Given the description of an element on the screen output the (x, y) to click on. 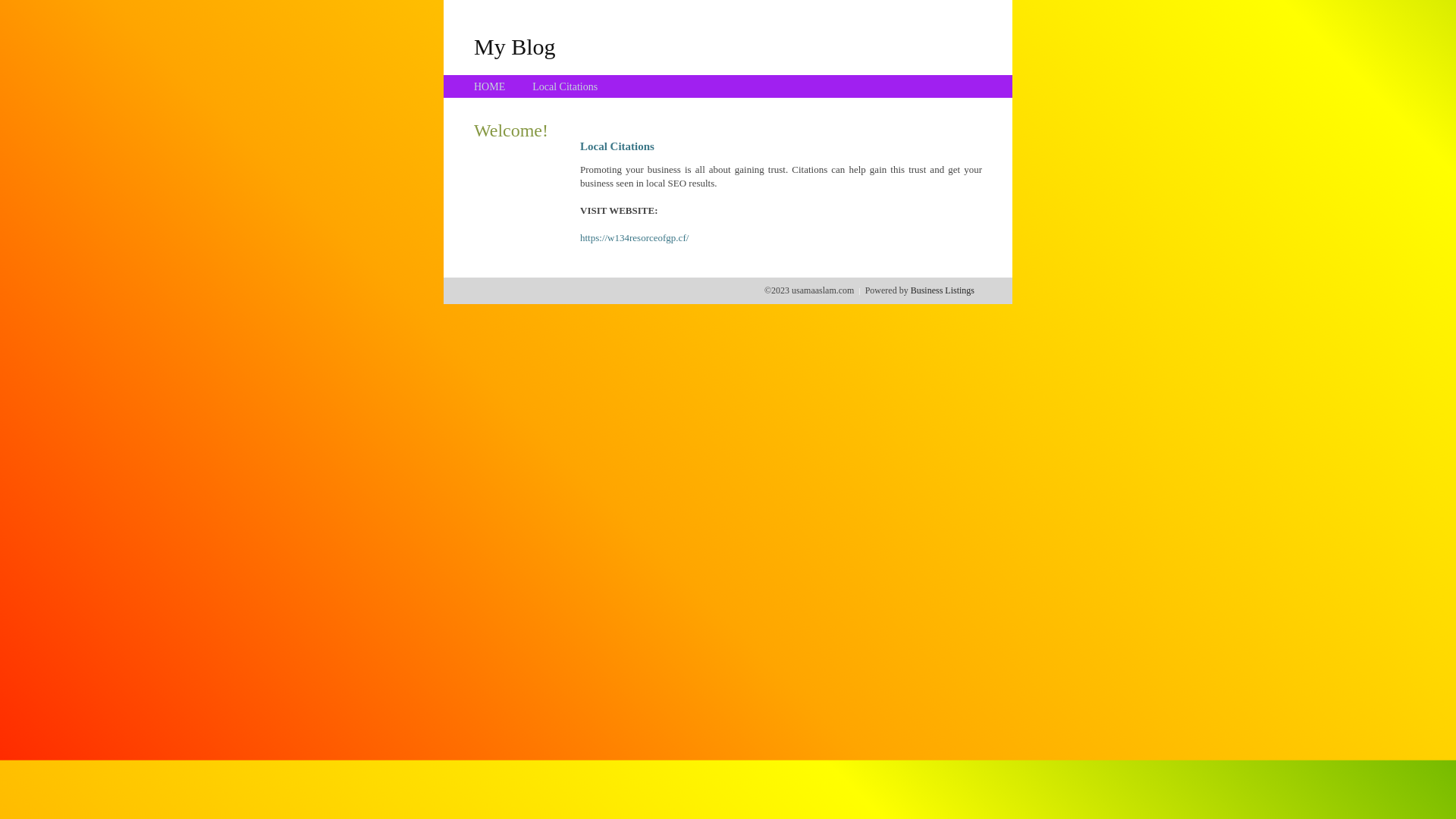
Business Listings Element type: text (942, 290)
Local Citations Element type: text (564, 86)
HOME Element type: text (489, 86)
My Blog Element type: text (514, 46)
https://w134resorceofgp.cf/ Element type: text (634, 237)
